Given the description of an element on the screen output the (x, y) to click on. 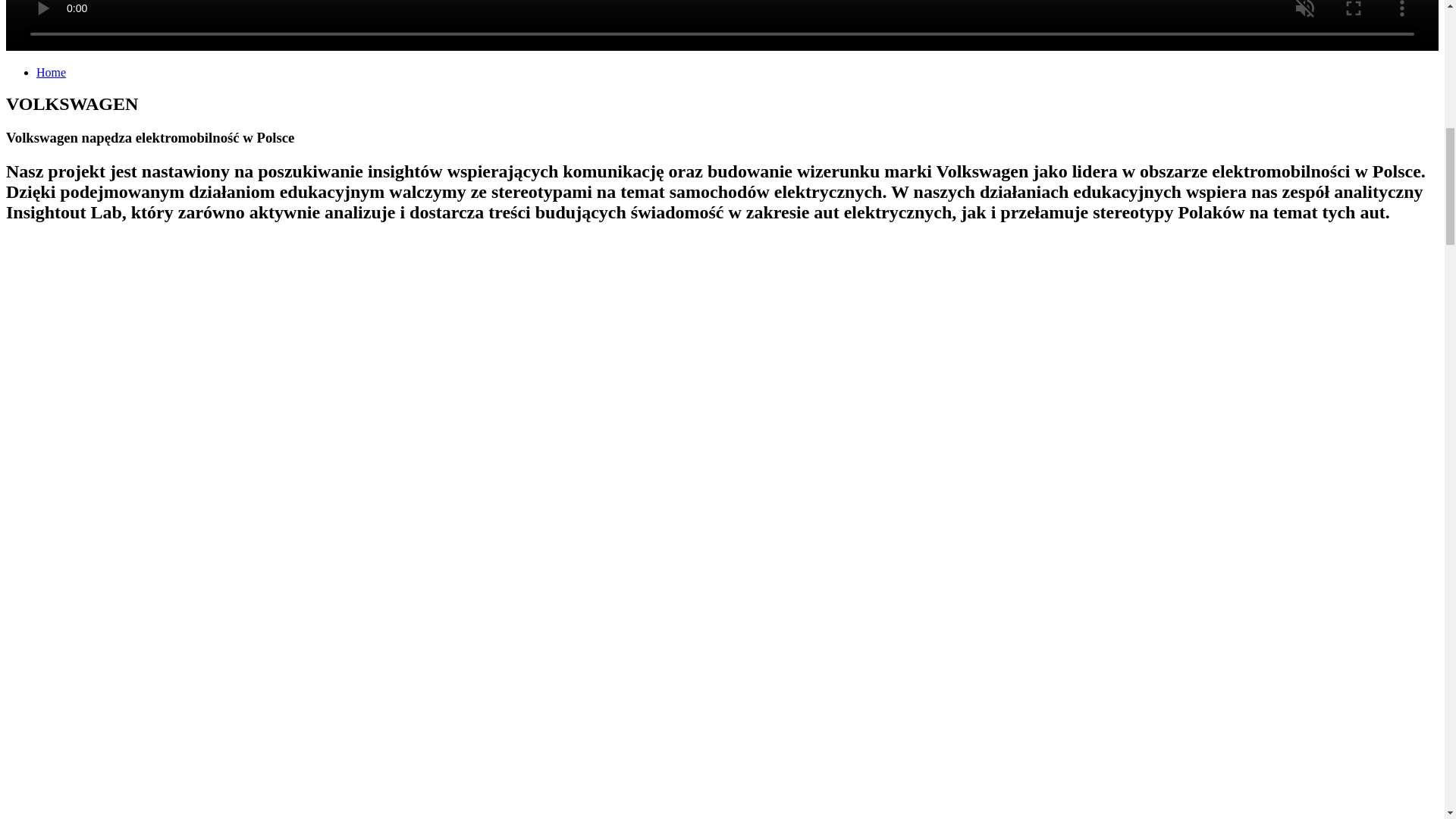
Home (50, 71)
